Given the description of an element on the screen output the (x, y) to click on. 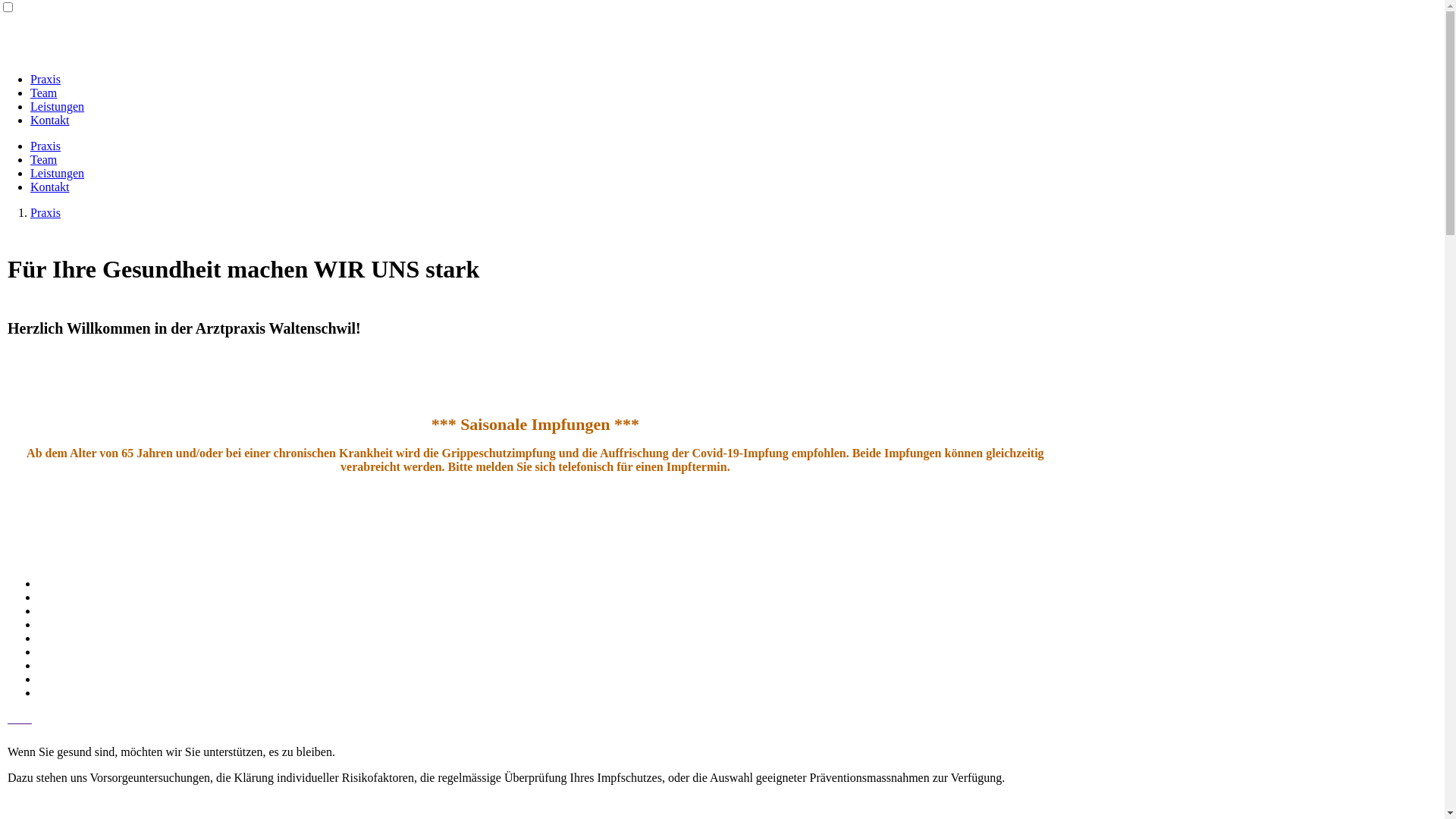
Team Element type: text (43, 159)
Kontakt Element type: text (49, 186)
Praxis Element type: text (45, 145)
Leistungen Element type: text (57, 172)
Kontakt Element type: text (49, 119)
Praxis Element type: text (45, 78)
Team Element type: text (43, 92)
Leistungen Element type: text (57, 106)
Praxis Element type: text (45, 212)
